Given the description of an element on the screen output the (x, y) to click on. 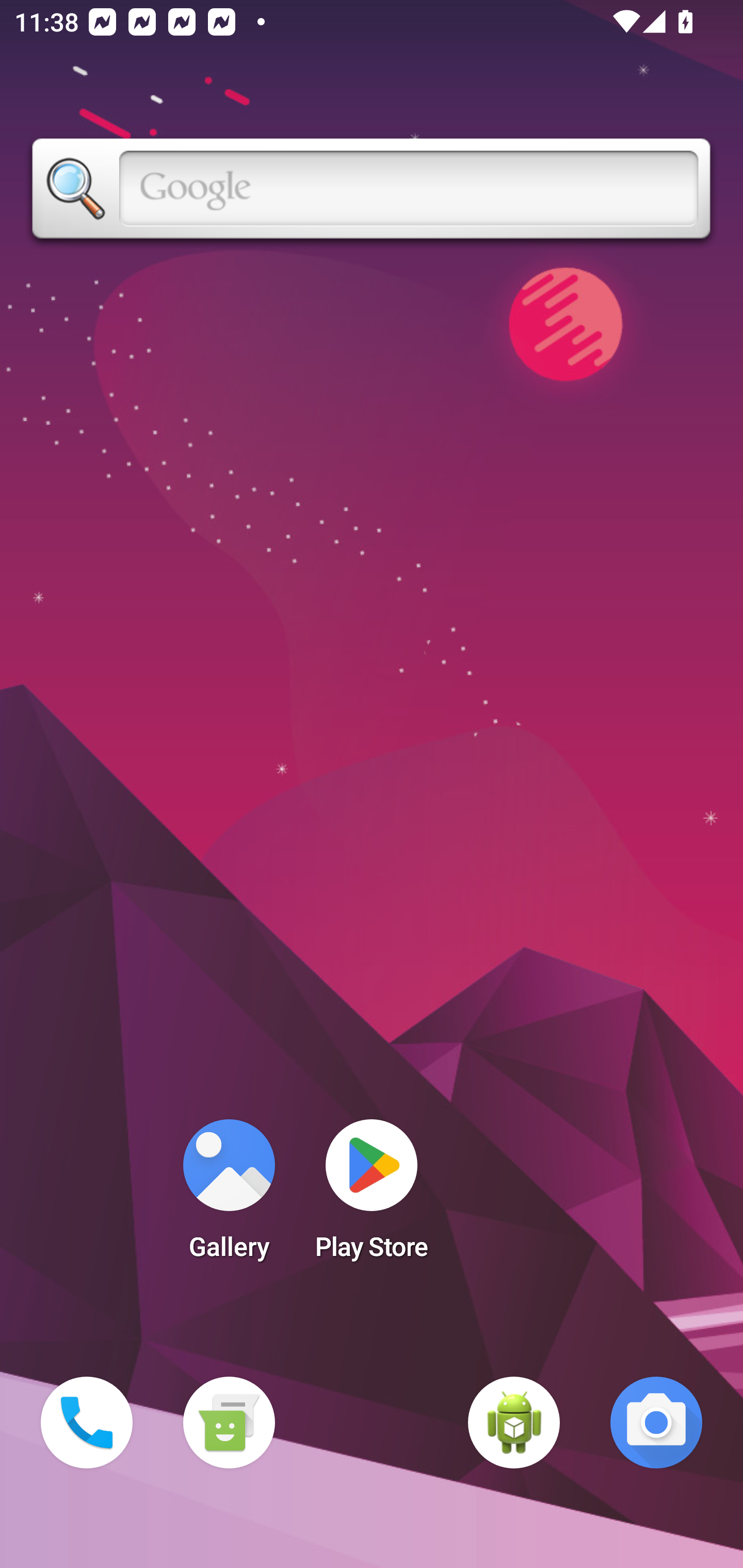
Gallery (228, 1195)
Play Store (371, 1195)
Phone (86, 1422)
Messaging (228, 1422)
WebView Browser Tester (513, 1422)
Camera (656, 1422)
